Given the description of an element on the screen output the (x, y) to click on. 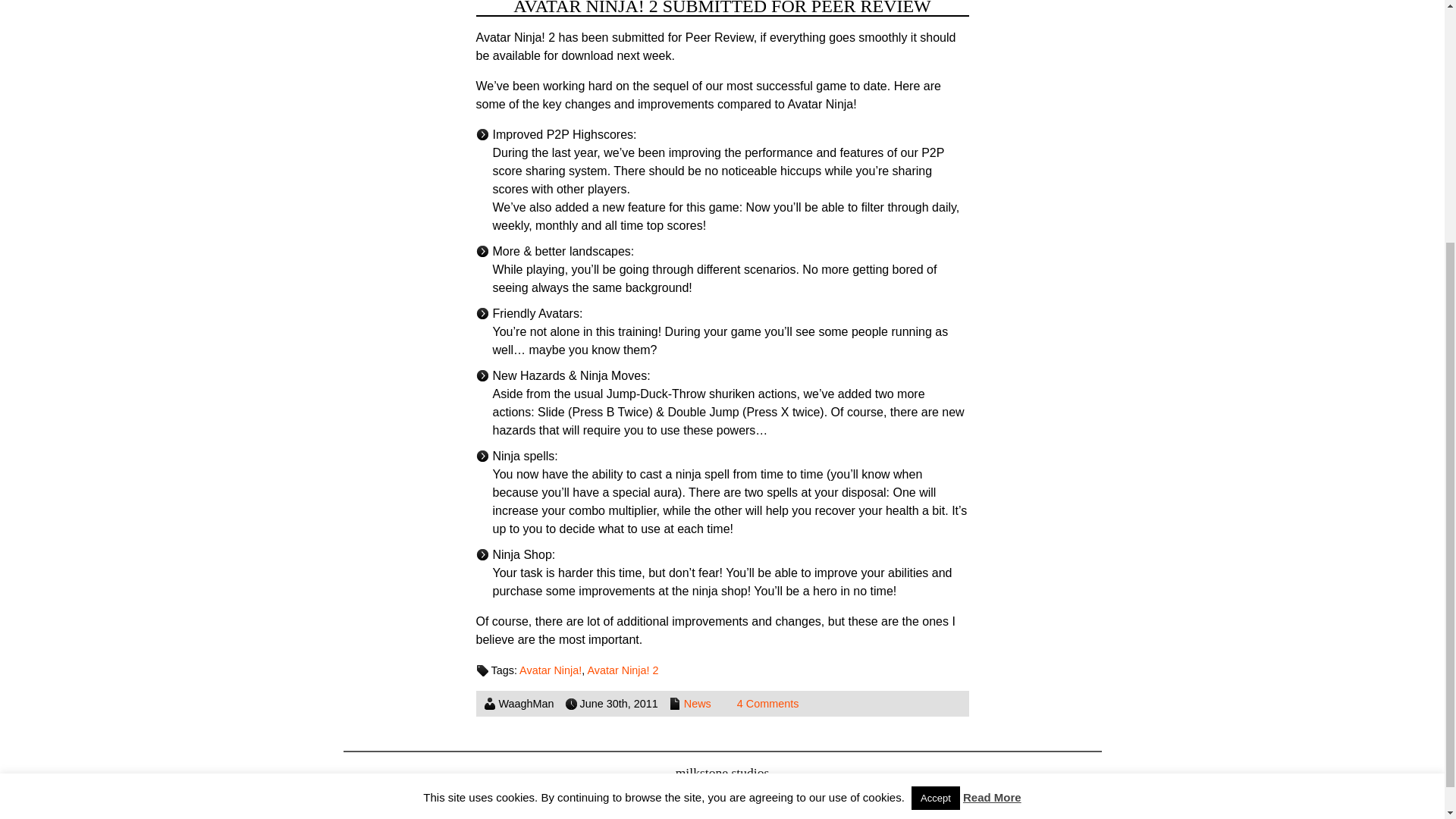
Read More (992, 448)
Avatar Ninja! (549, 670)
Accept (935, 449)
Avatar Ninja! 2 submitted for Peer Review (722, 7)
AVATAR NINJA! 2 SUBMITTED FOR PEER REVIEW (722, 7)
PRESS KIT (534, 802)
4 Comments (767, 703)
TEAM (723, 802)
Avatar Ninja! 2 (622, 670)
MONETIZATION PERMISSION (861, 802)
News (697, 703)
CONTACT (633, 802)
